Given the description of an element on the screen output the (x, y) to click on. 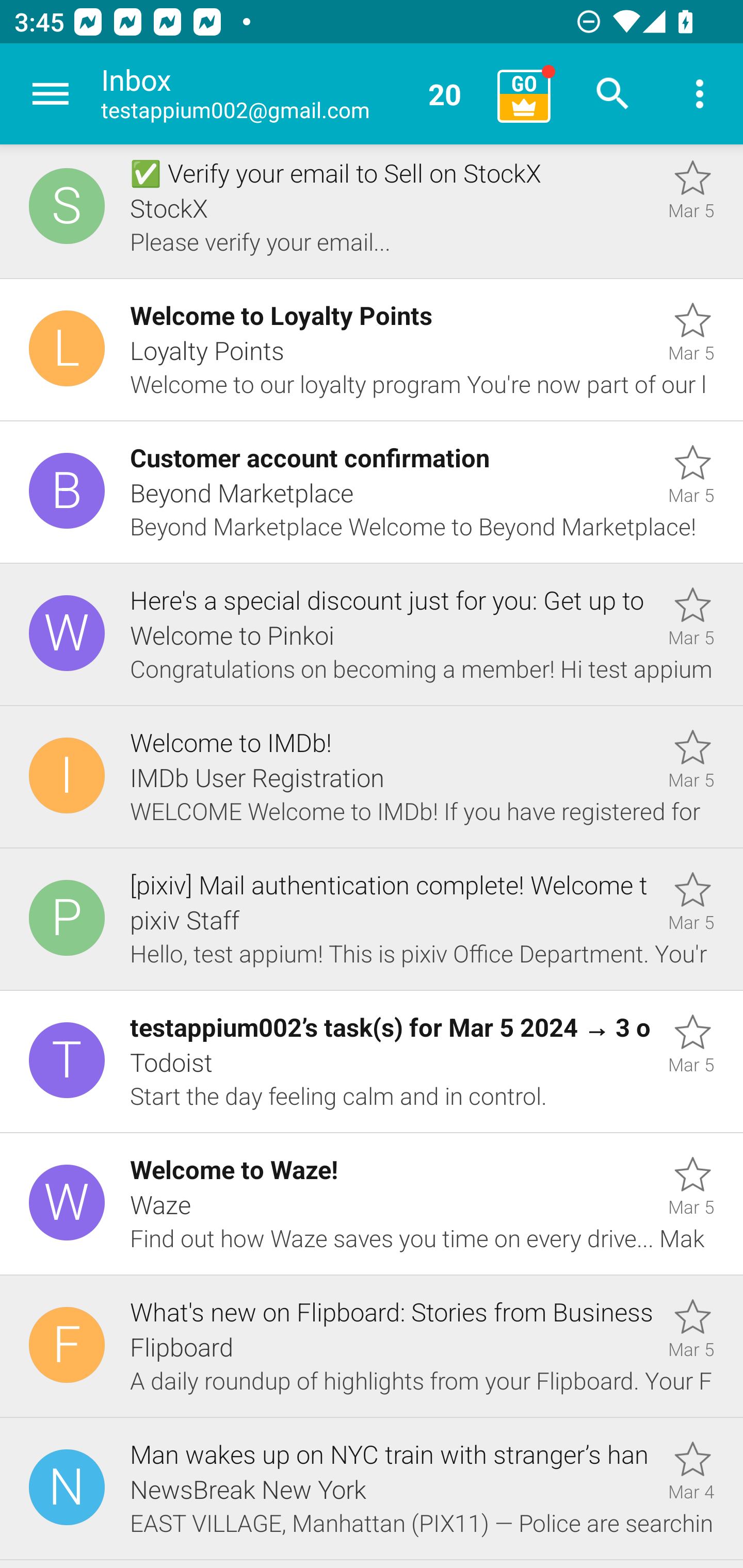
Navigate up (50, 93)
Inbox testappium002@gmail.com 20 (291, 93)
Search (612, 93)
More options (699, 93)
